Given the description of an element on the screen output the (x, y) to click on. 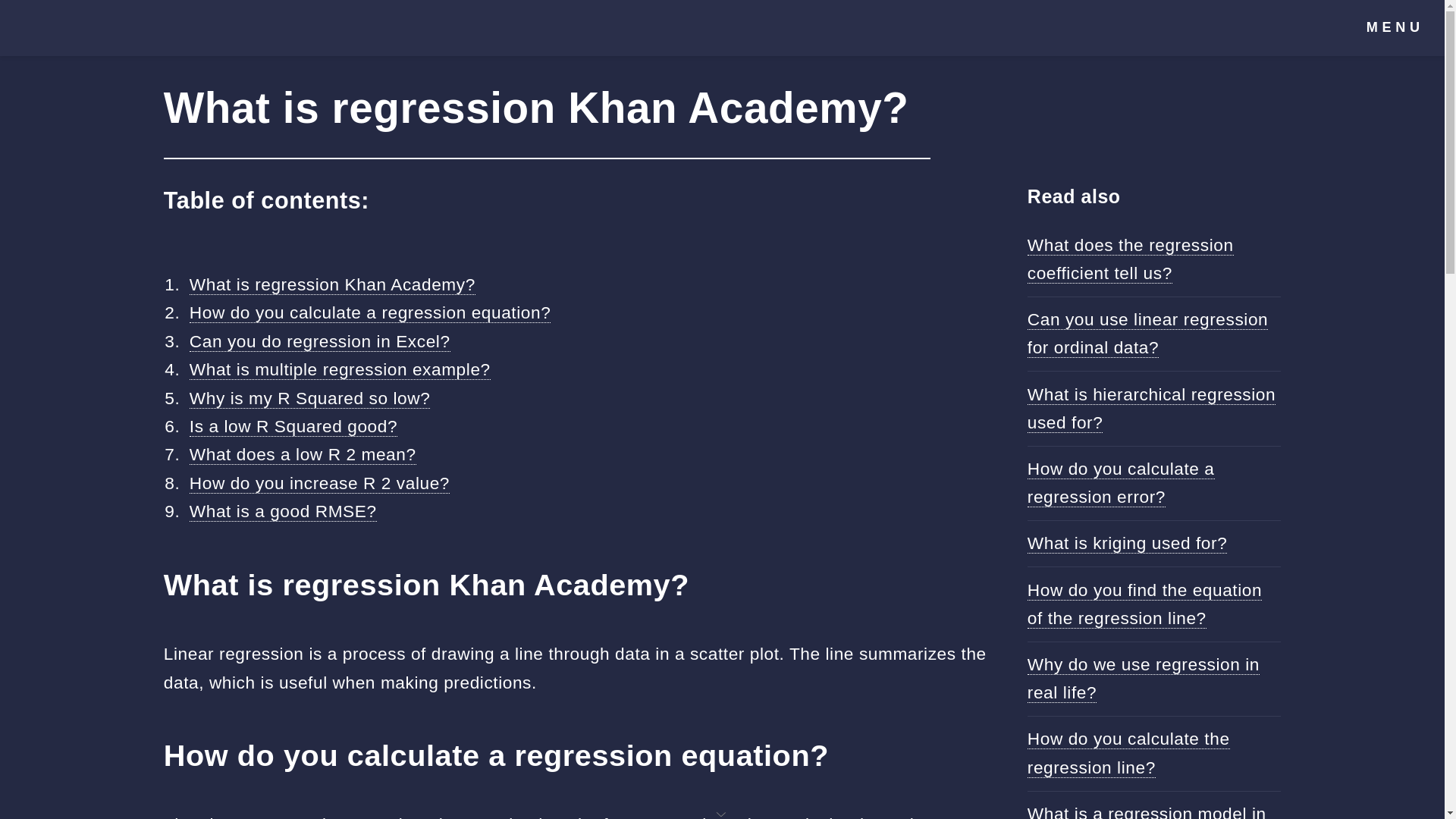
Can you use linear regression for ordinal data? (1147, 333)
How do you find the equation of the regression line? (1144, 603)
What is multiple regression example? (339, 369)
What does the regression coefficient tell us? (1130, 259)
How do you calculate a regression equation? (370, 312)
What is a regression model in Excel? (1146, 811)
How do you increase R 2 value? (319, 483)
How do you calculate a regression error? (1120, 482)
What is a good RMSE? (283, 511)
What is hierarchical regression used for? (1151, 408)
